Given the description of an element on the screen output the (x, y) to click on. 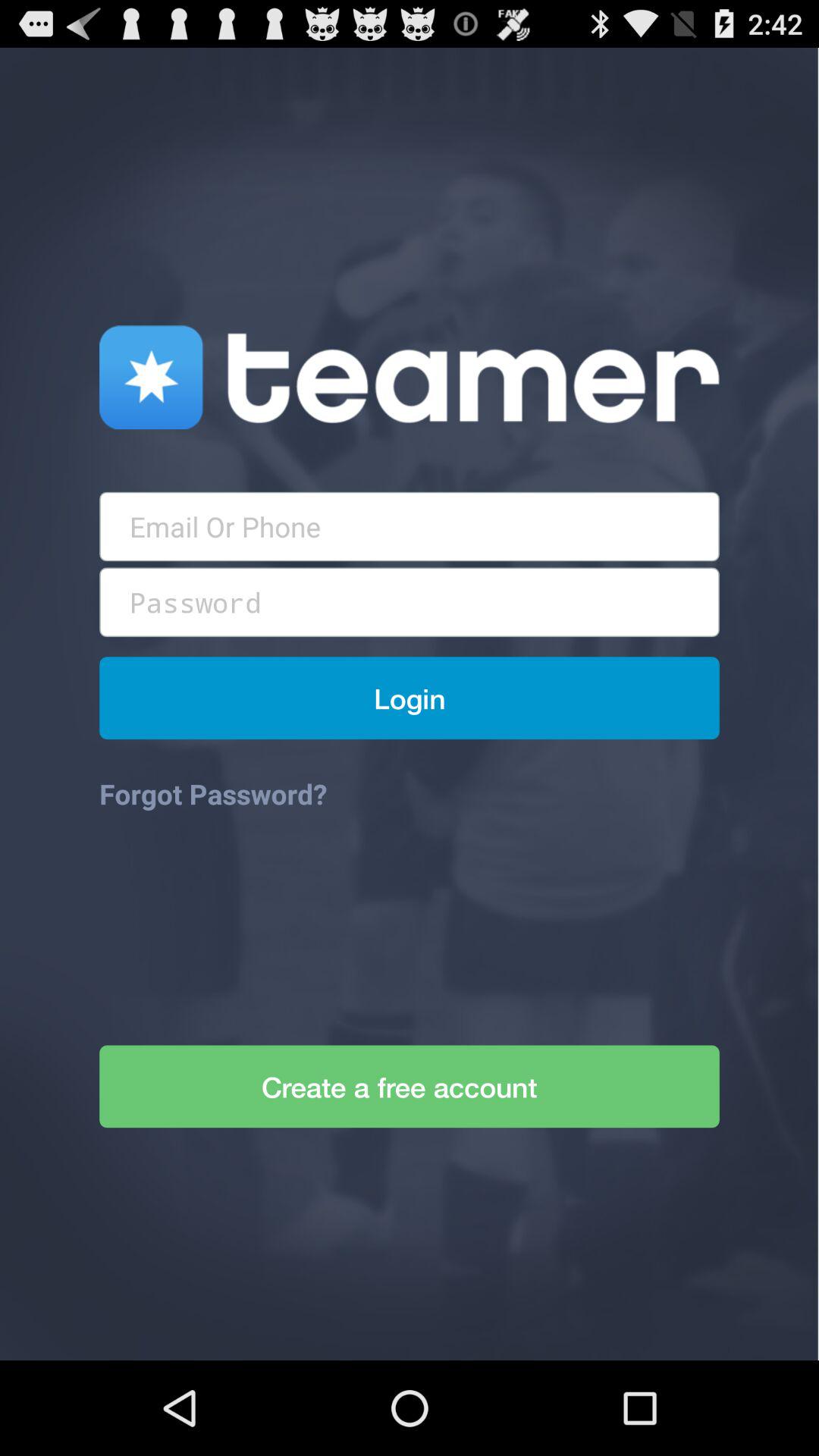
type password (409, 602)
